Given the description of an element on the screen output the (x, y) to click on. 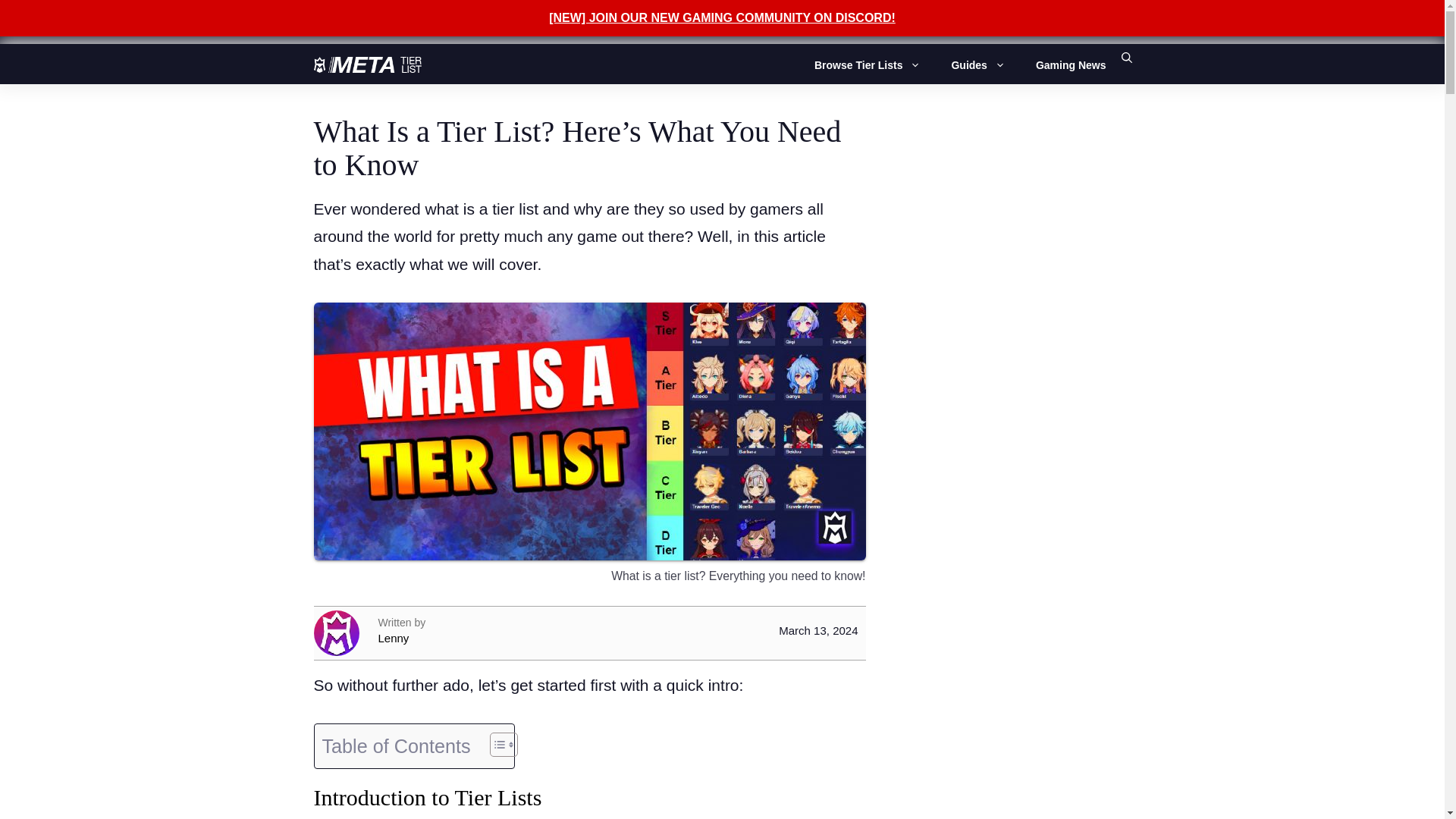
View all posts by Lenny (487, 638)
Gaming News (1070, 64)
Browse Tier Lists (874, 64)
Guides (985, 64)
Lenny (487, 638)
